Given the description of an element on the screen output the (x, y) to click on. 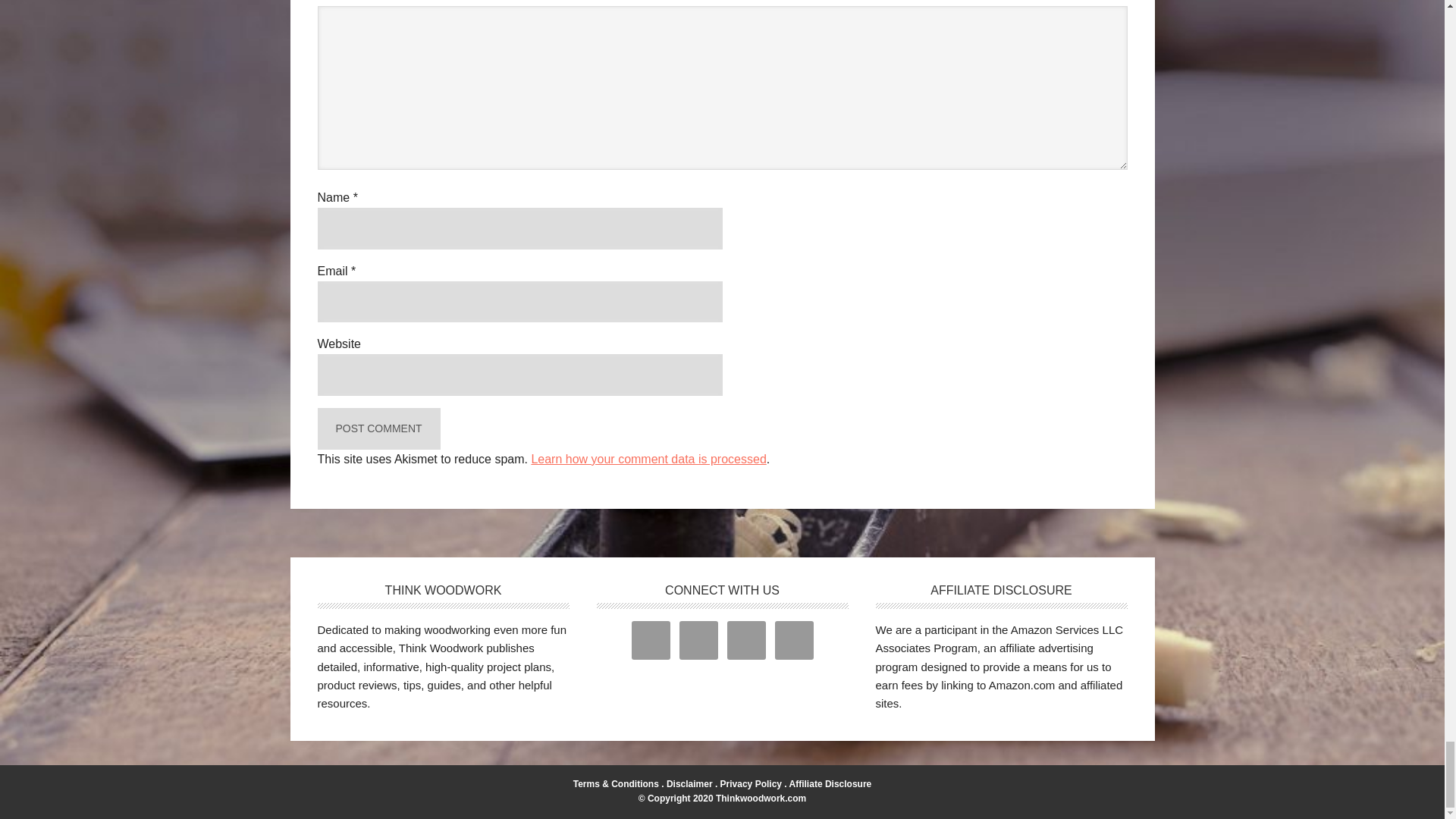
Post Comment (378, 428)
